Given the description of an element on the screen output the (x, y) to click on. 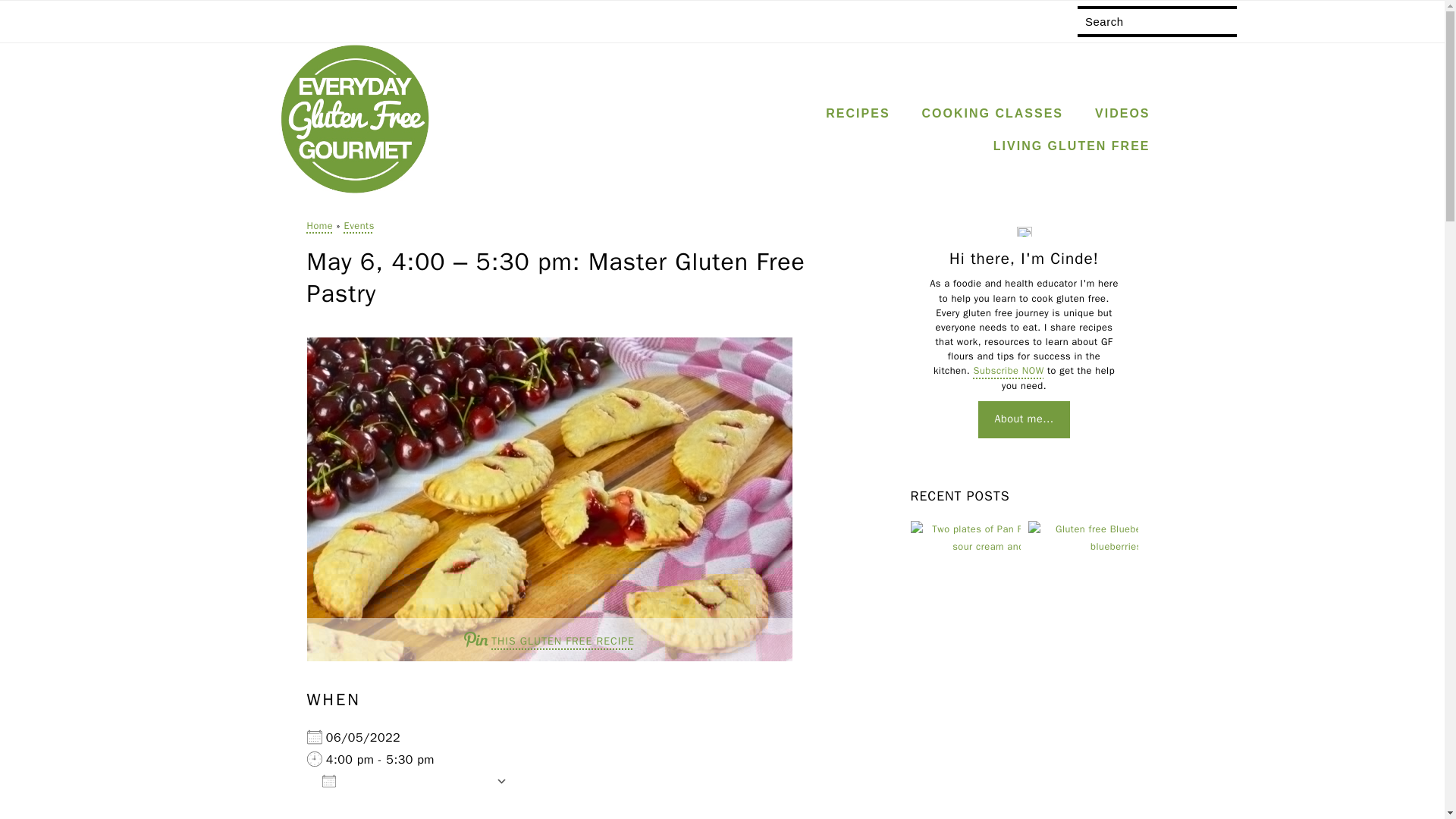
YouTube (1415, 22)
Facebook (1264, 22)
Instagram (1295, 22)
Everyday Gluten Free Gourmet (354, 118)
Twitter (1385, 22)
Everyday Gluten Free Gourmet (354, 191)
LinkedIn (1325, 22)
Twitter (1385, 22)
LIVING GLUTEN FREE (1071, 145)
